Given the description of an element on the screen output the (x, y) to click on. 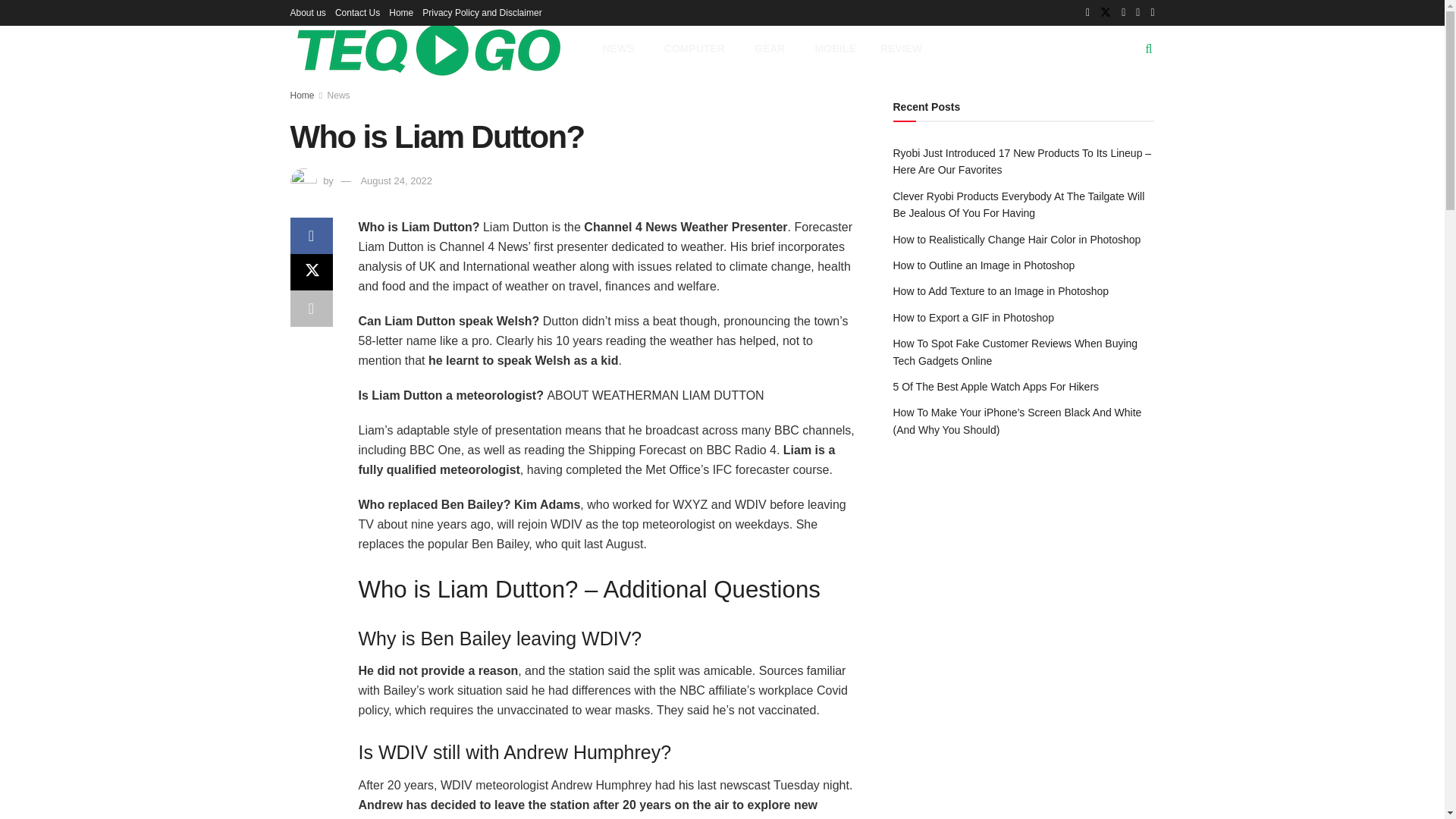
COMPUTER (697, 48)
GEAR (772, 48)
About us (306, 12)
Contact Us (357, 12)
Home (400, 12)
NEWS (619, 48)
Privacy Policy and Disclaimer (481, 12)
